Given the description of an element on the screen output the (x, y) to click on. 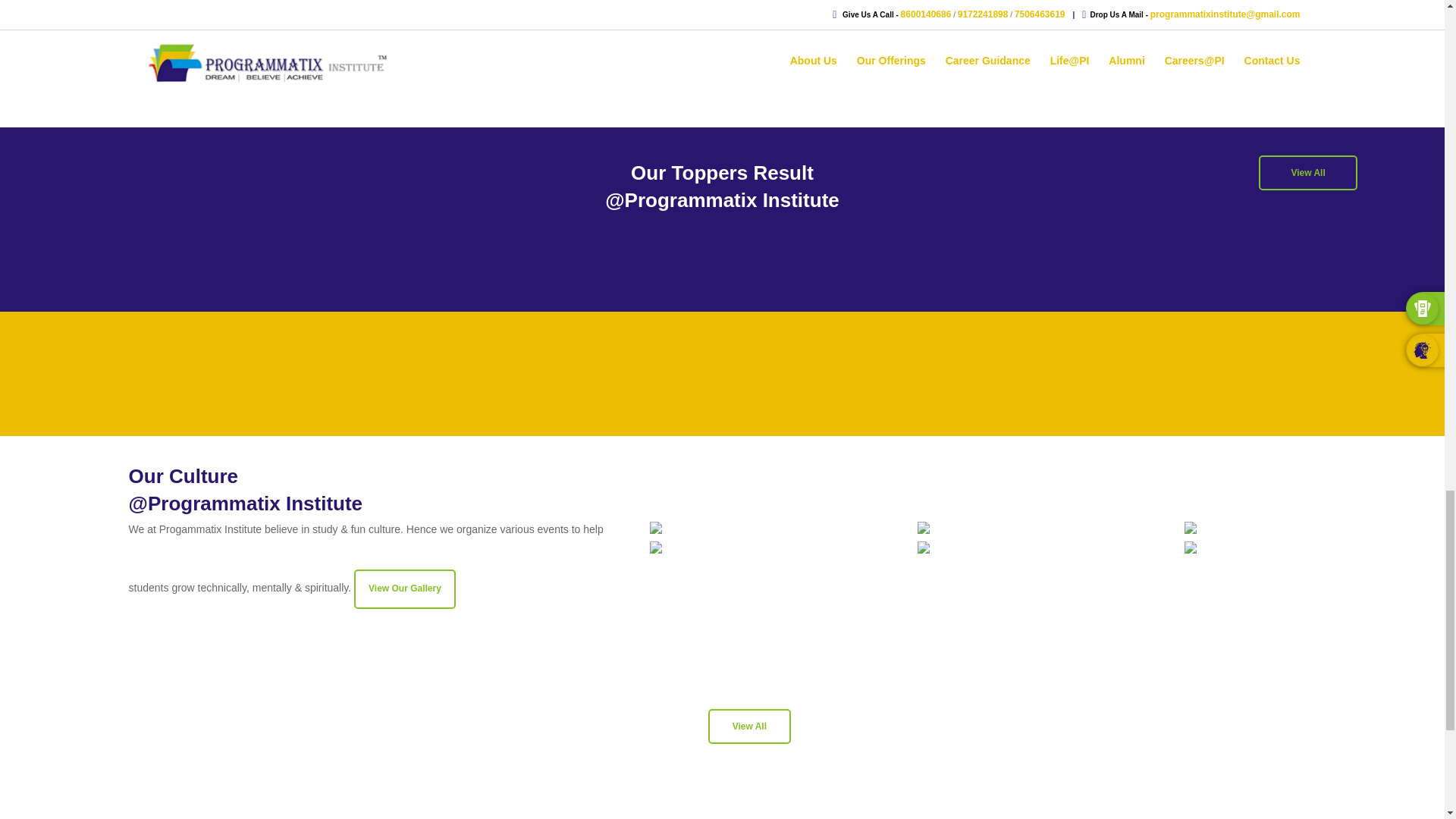
Group 4333 (67, 9)
